Given the description of an element on the screen output the (x, y) to click on. 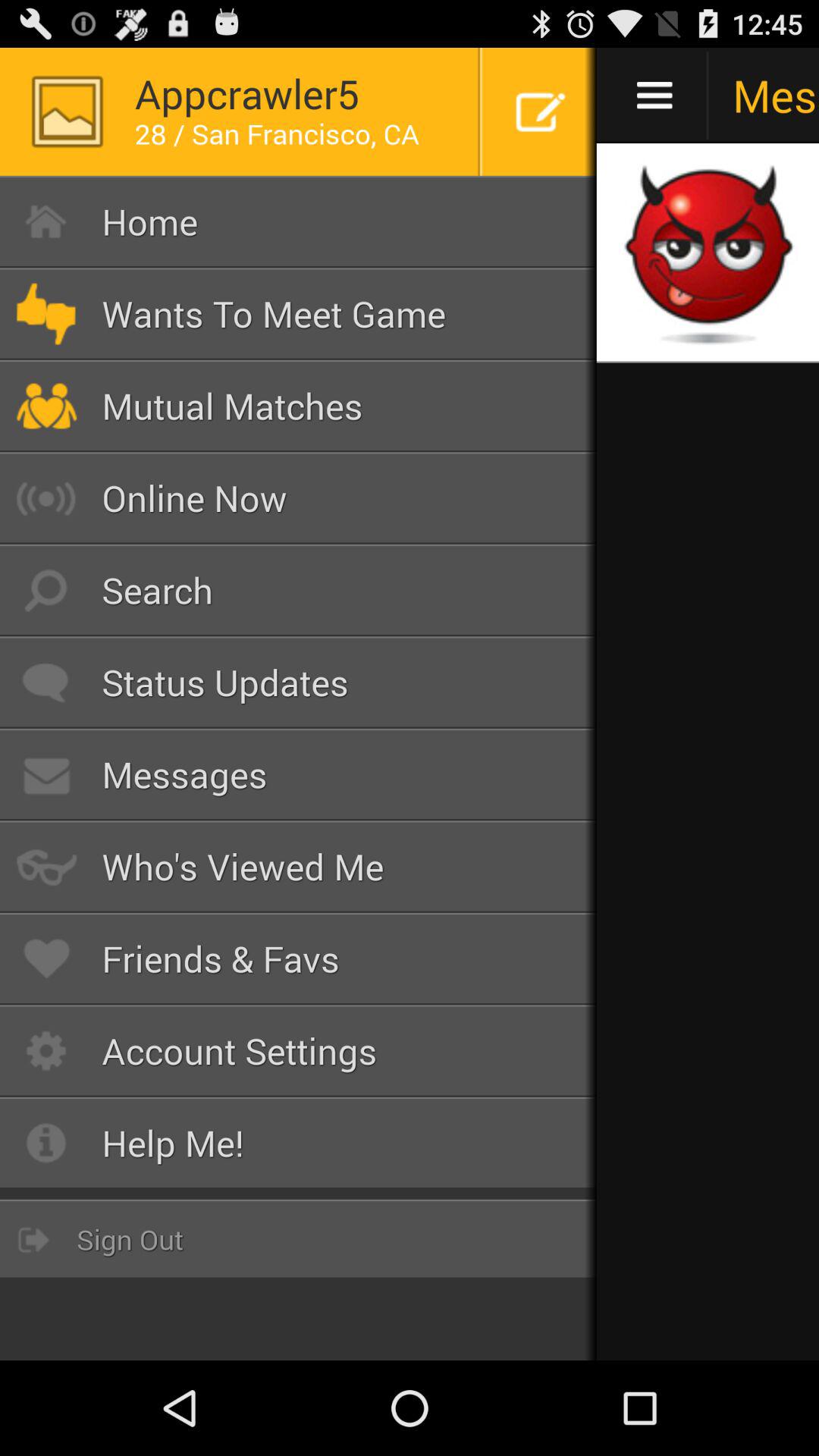
turn on button above wants to meet icon (298, 221)
